Given the description of an element on the screen output the (x, y) to click on. 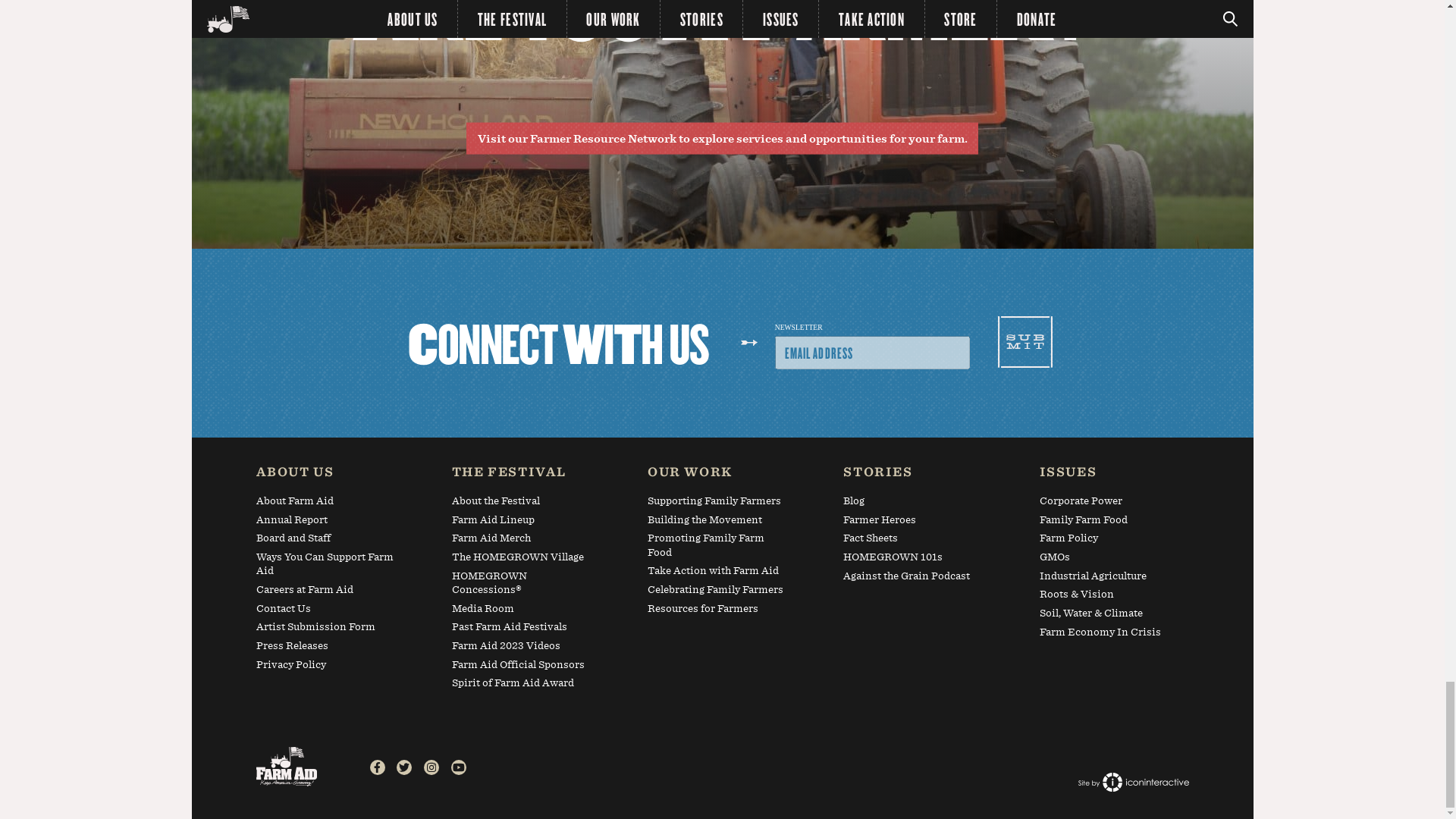
Ways You Can Support Farm Aid (326, 566)
Contact Us (326, 610)
ABOUT US (326, 475)
Careers at Farm Aid (326, 592)
About Farm Aid (326, 503)
Annual Report (326, 522)
Board and Staff (326, 540)
